Given the description of an element on the screen output the (x, y) to click on. 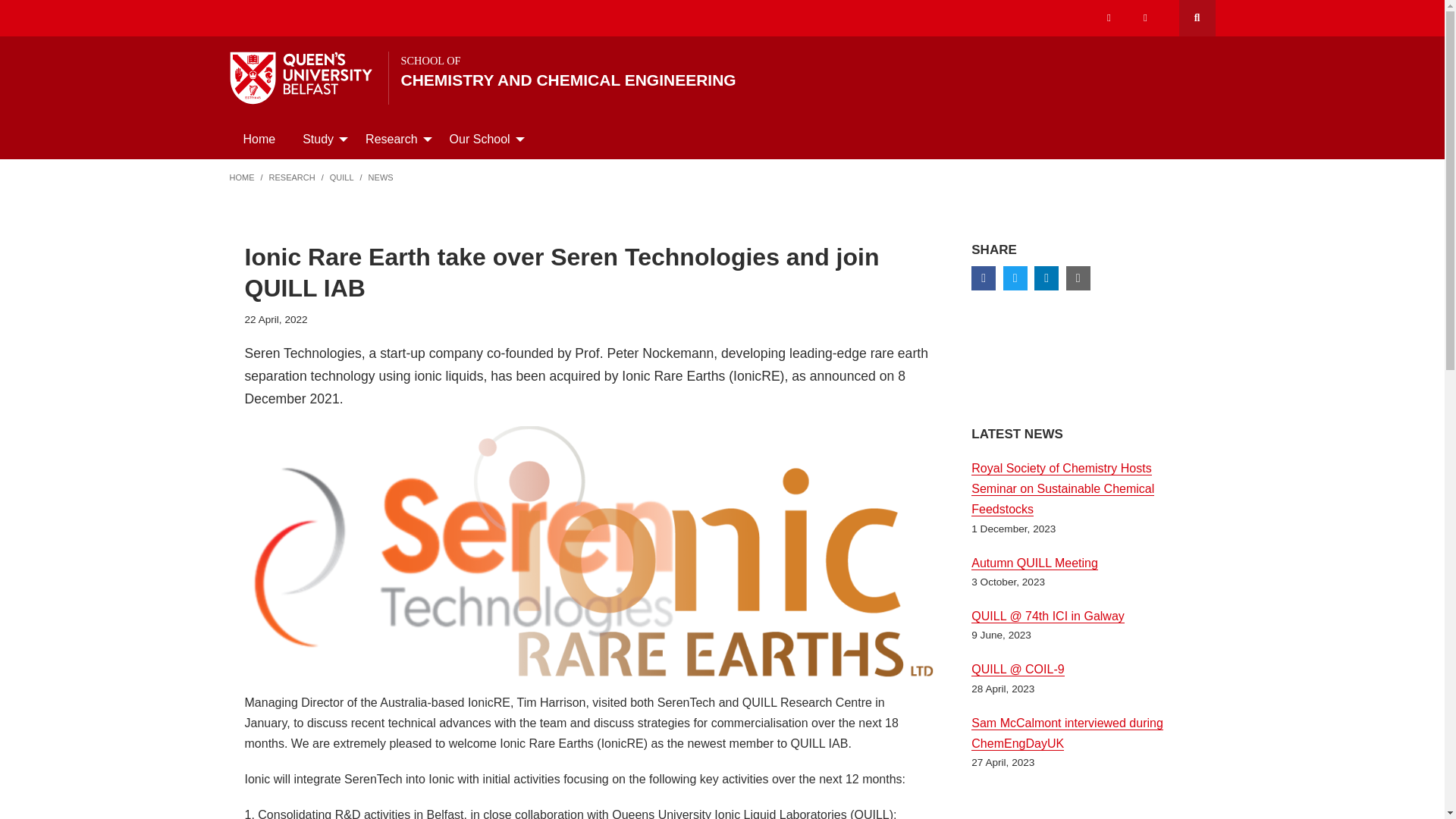
Our School (481, 138)
Research (393, 138)
Our facebook (1108, 18)
Study (320, 138)
Our x-twitter (1144, 18)
Open search drawer (1195, 18)
Home (799, 70)
